Given the description of an element on the screen output the (x, y) to click on. 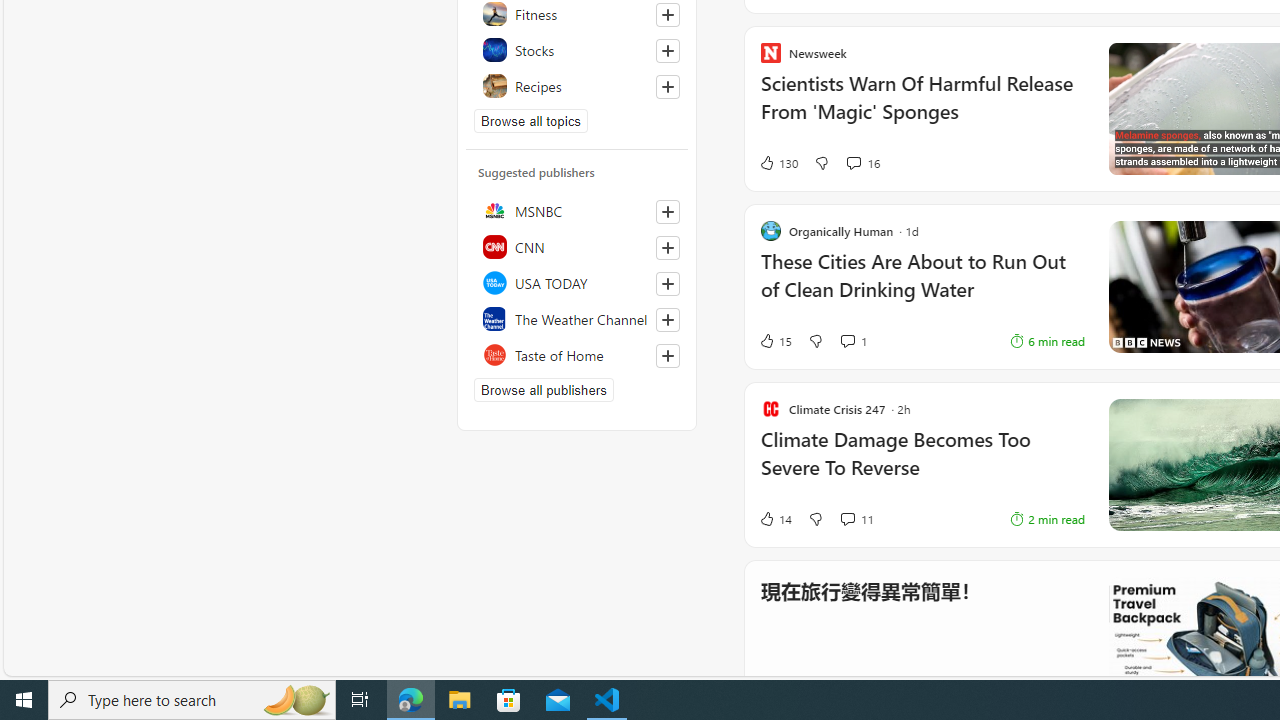
View comments 16 Comment (862, 162)
Climate Damage Becomes Too Severe To Reverse (922, 463)
15 Like (968, 340)
CNN (577, 246)
Follow this source (667, 355)
Browse all publishers (543, 389)
Follow this source (667, 355)
Recipes (577, 85)
View comments 11 Comment (847, 519)
Stocks (577, 49)
